Given the description of an element on the screen output the (x, y) to click on. 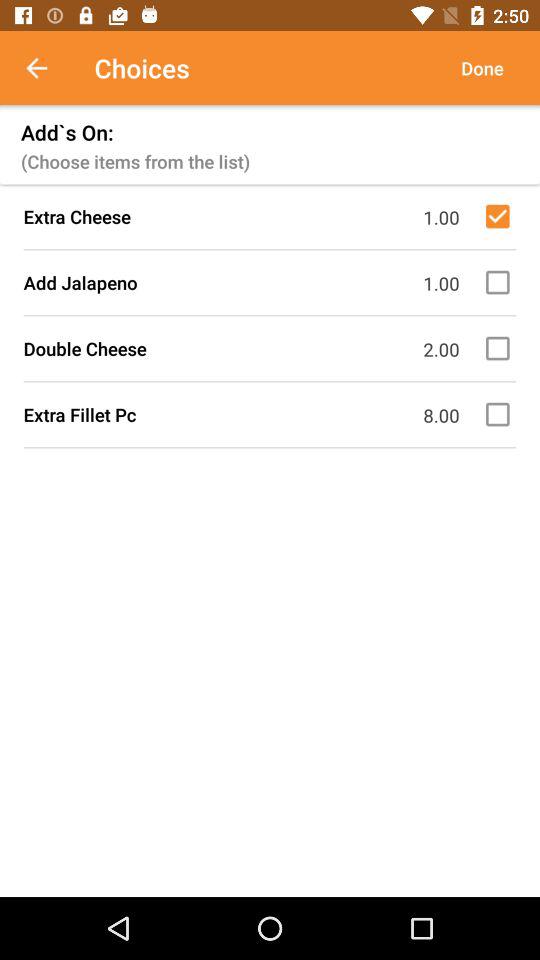
toggle select option (501, 216)
